Given the description of an element on the screen output the (x, y) to click on. 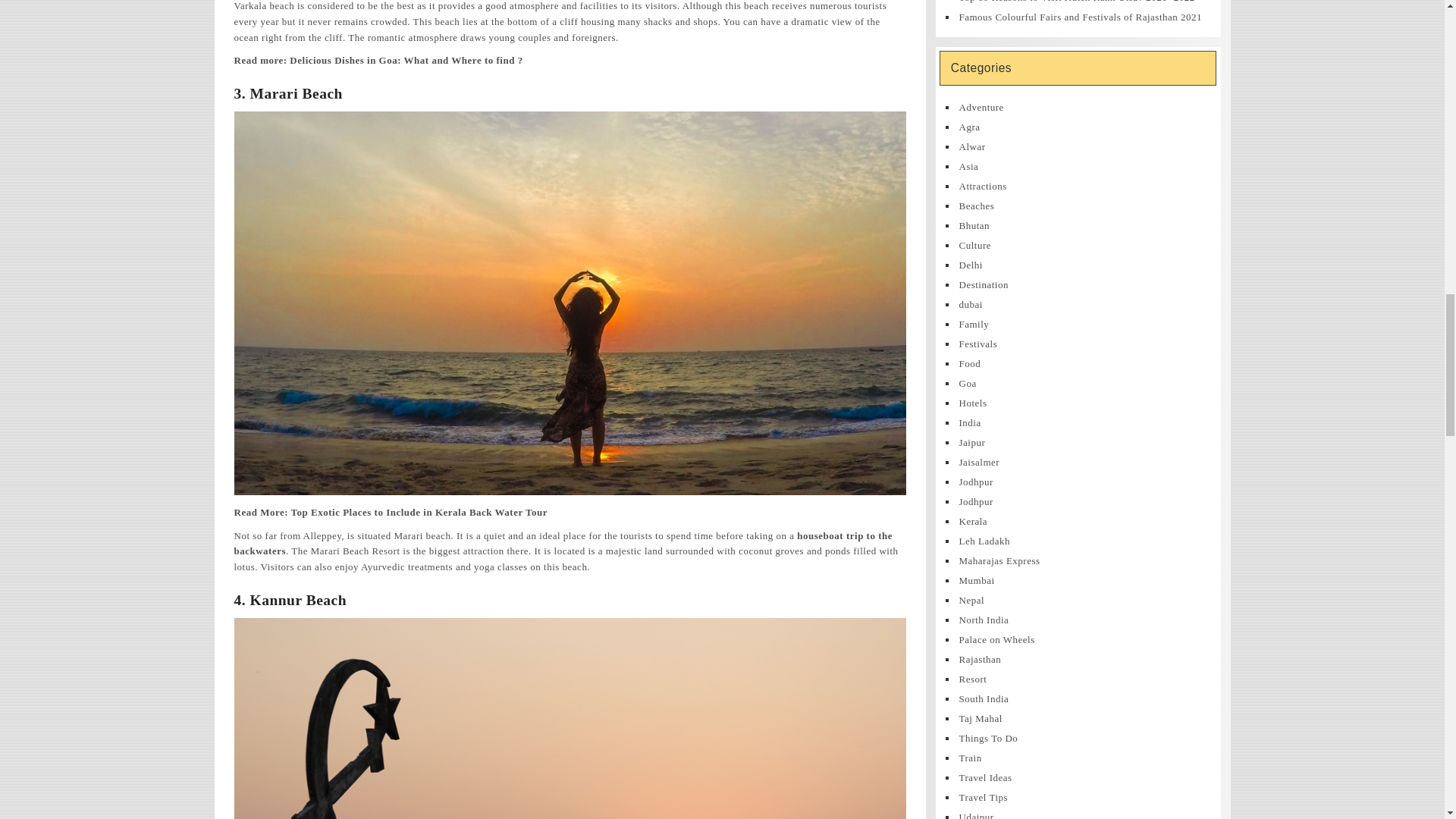
Top Exotic Places to Include in Kerala Back Water Tour (419, 511)
houseboat trip to the backwaters (562, 543)
Delicious Dishes in Goa: What and Where to find ? (405, 60)
